Given the description of an element on the screen output the (x, y) to click on. 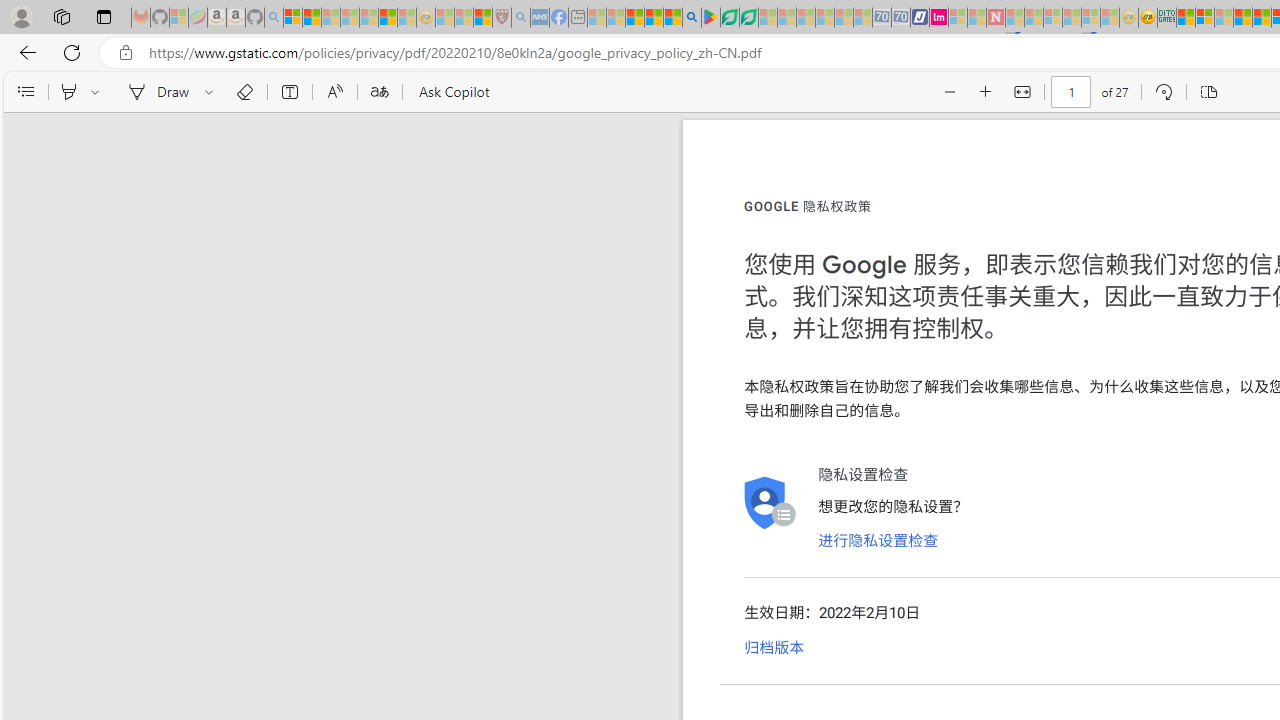
Read aloud (334, 92)
Zoom out (Ctrl+Minus key) (949, 92)
Page number (1070, 92)
Contents (25, 92)
